Given the description of an element on the screen output the (x, y) to click on. 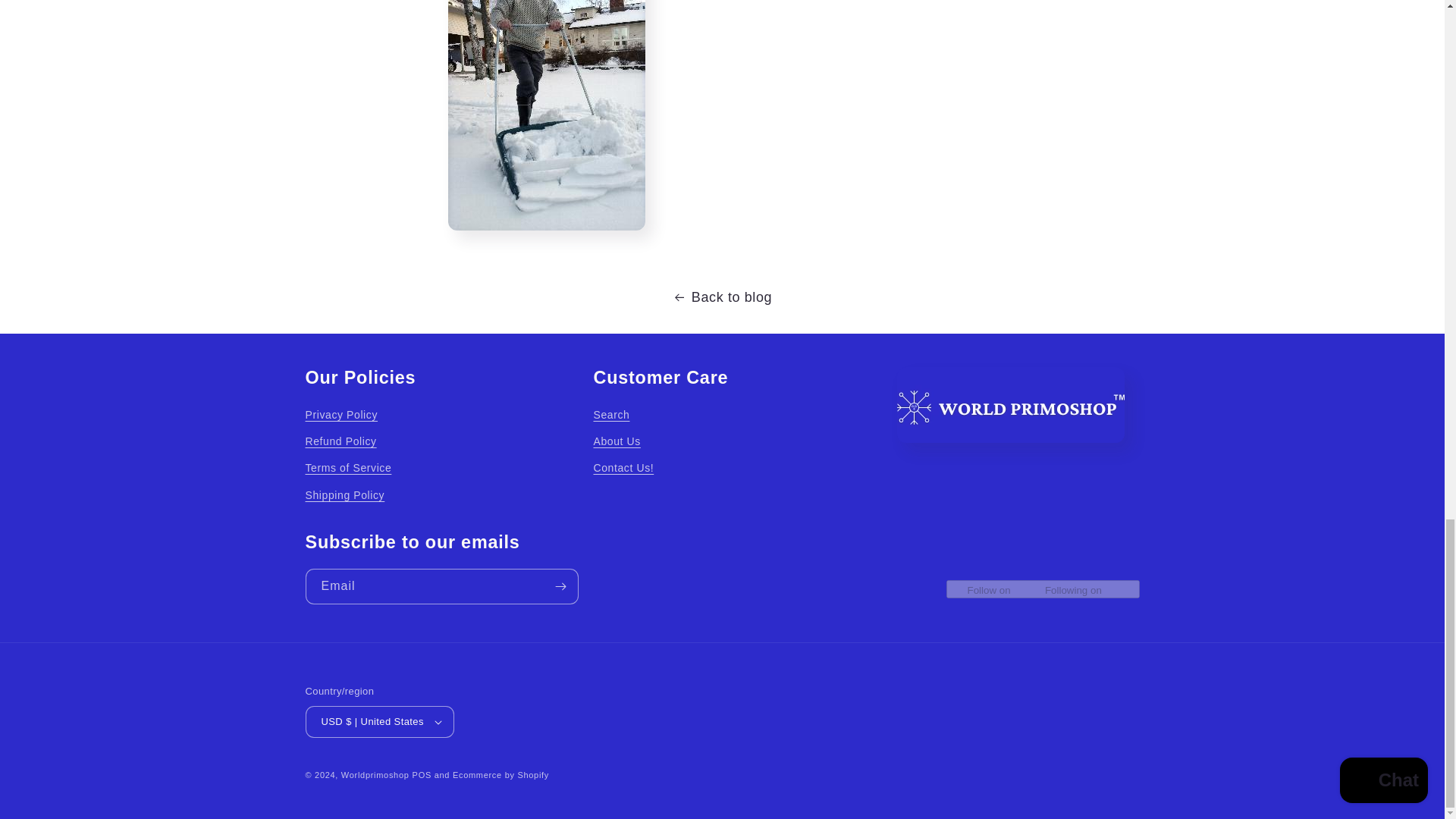
Contact Us! (622, 468)
Terms of Service (347, 468)
POS (421, 774)
Refund Policy (339, 441)
About Us (616, 441)
Privacy Policy (340, 416)
Worldprimoshop (374, 774)
Shipping Policy (344, 495)
Search (610, 416)
